Given the description of an element on the screen output the (x, y) to click on. 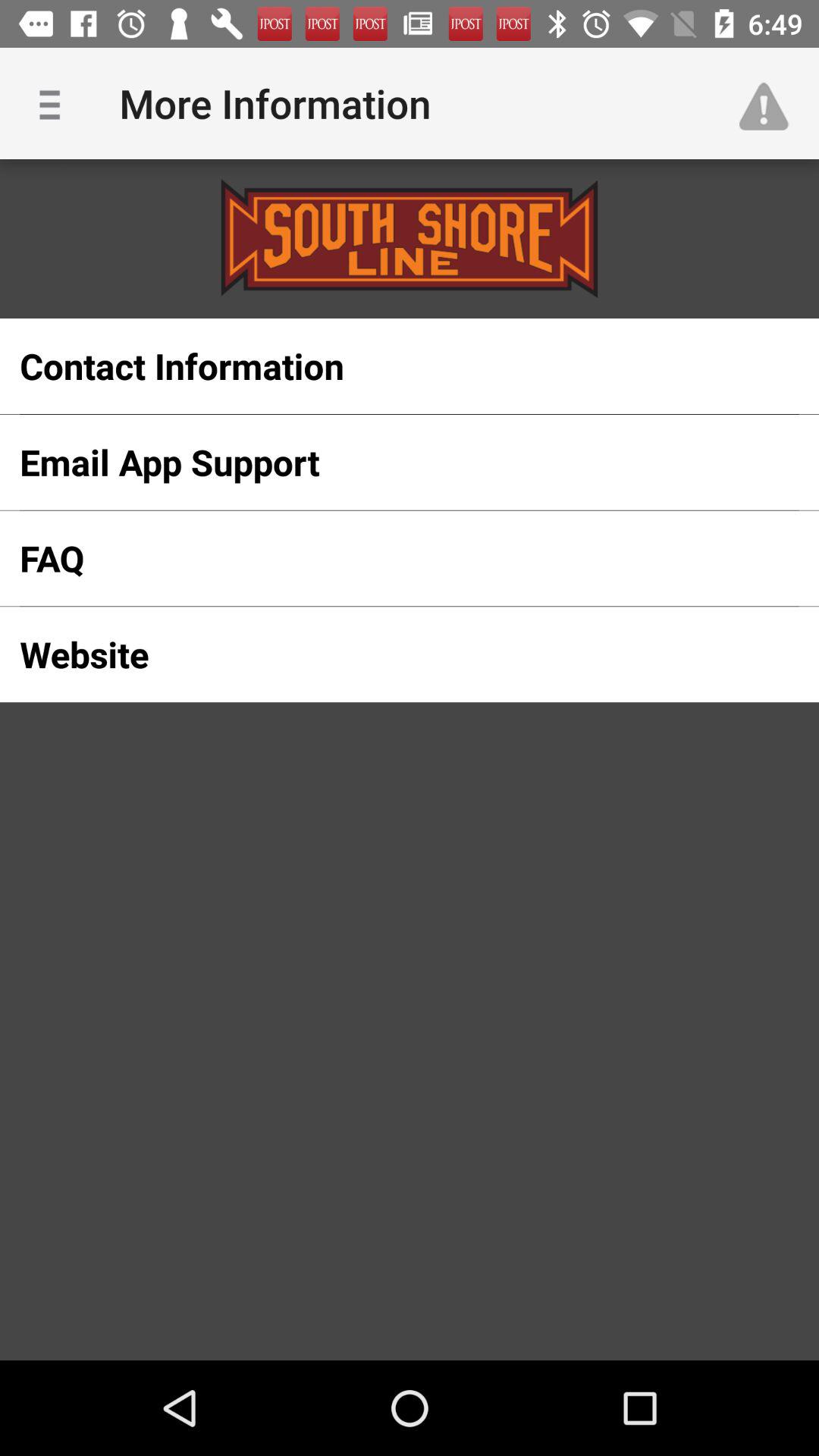
turn off the icon next to more information icon (771, 103)
